Given the description of an element on the screen output the (x, y) to click on. 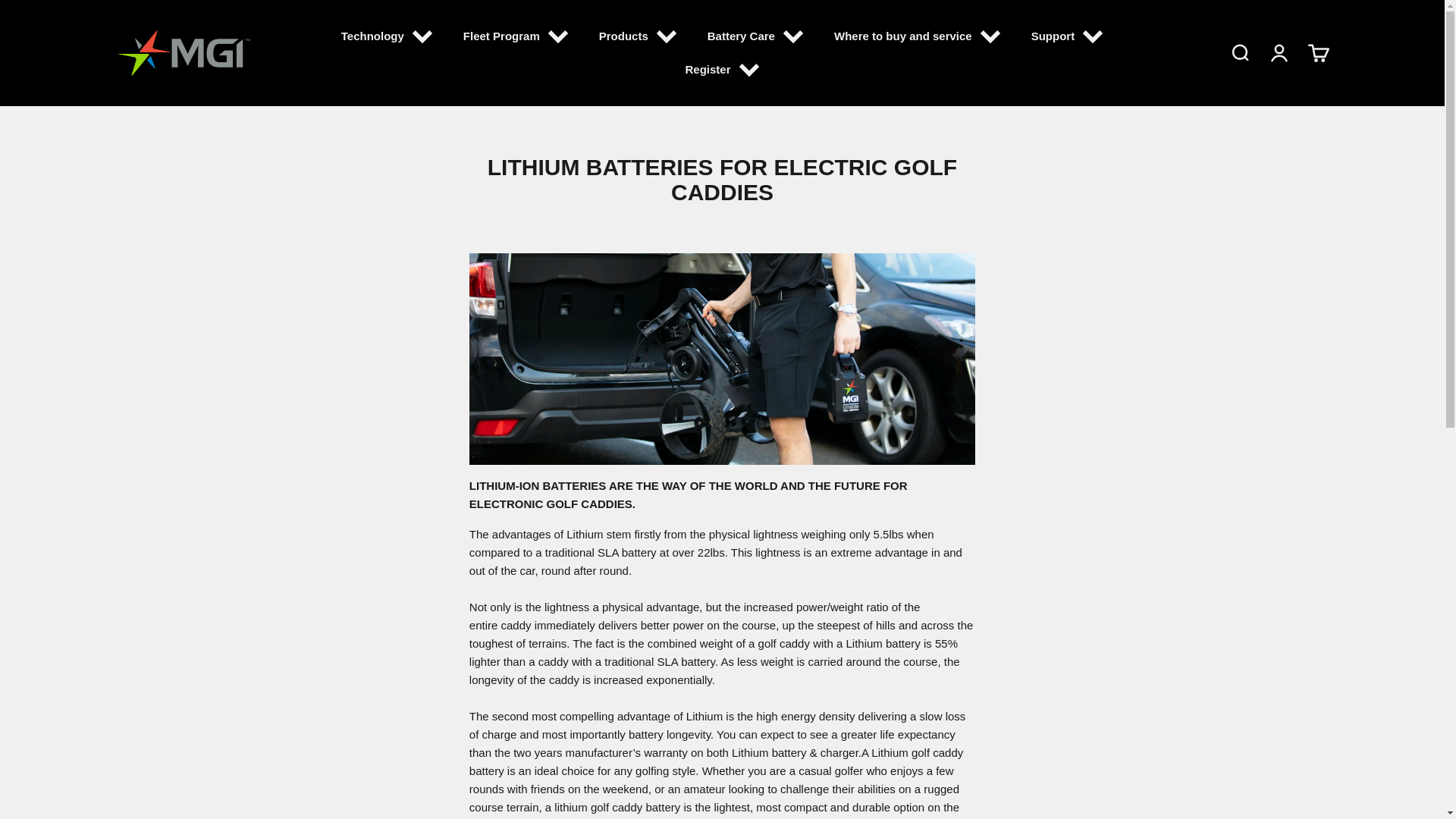
Open account page (1278, 52)
MGI Golf USA (183, 52)
Open cart (1317, 52)
Open search (1238, 52)
